Given the description of an element on the screen output the (x, y) to click on. 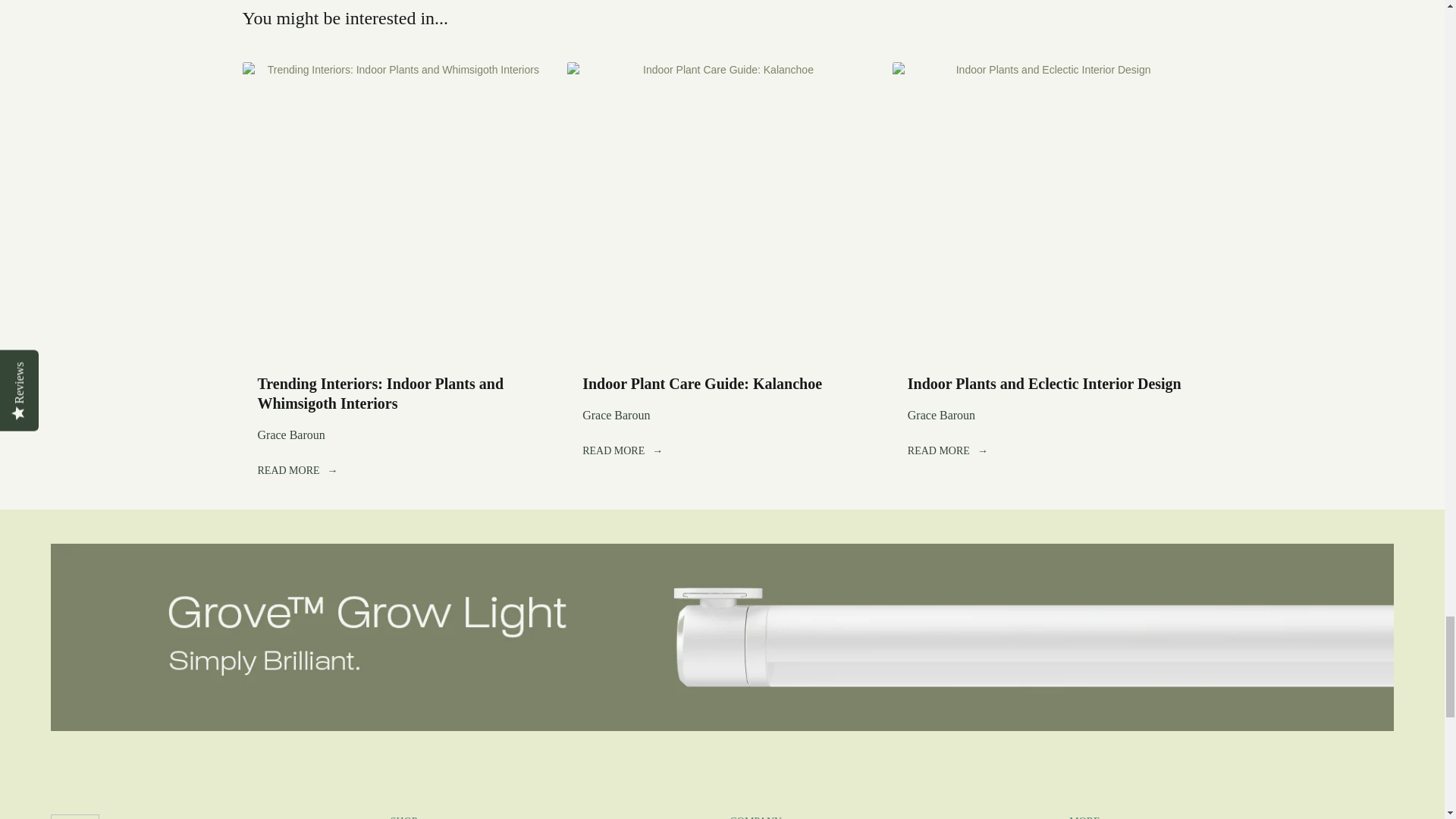
Indoor Plant Care Guide: Kalanchoe (702, 383)
Trending Interiors: Indoor Plants and Whimsigoth Interiors (398, 209)
Trending Interiors: Indoor Plants and Whimsigoth Interiors (380, 393)
Indoor Plant Care Guide: Kalanchoe (722, 209)
Indoor Plants and Eclectic Interior Design (1047, 209)
Indoor Plants and Eclectic Interior Design (1043, 383)
Soltech (148, 816)
